Given the description of an element on the screen output the (x, y) to click on. 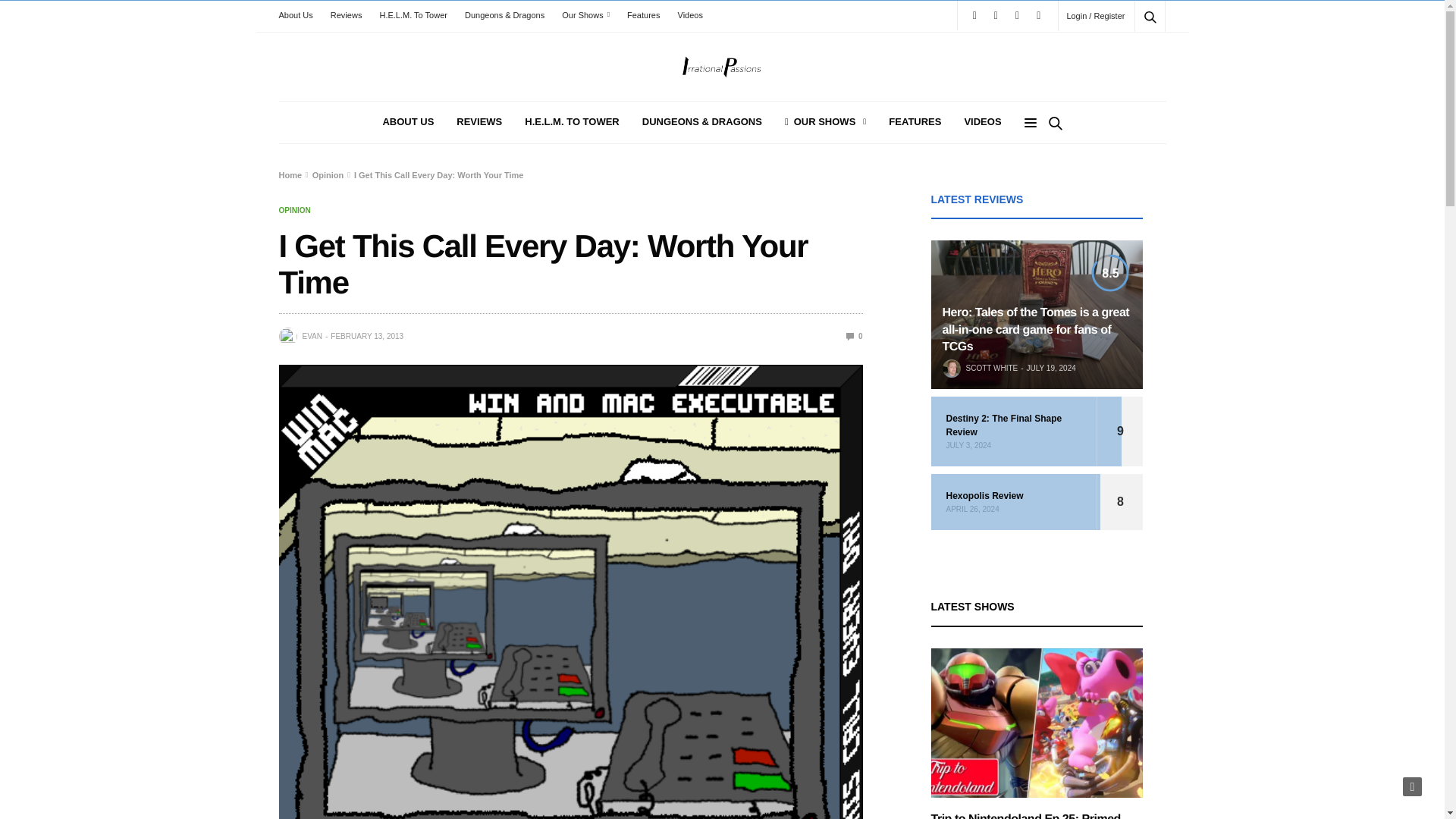
Search (1129, 53)
I Get This Call Every Day: Worth Your Time (853, 336)
Posts by Scott White (991, 368)
Our Shows (585, 15)
Trip to Nintendoland Ep.25: Primed and Ready (1026, 816)
Posts by Evan (311, 336)
H.E.L.M. TO TOWER (571, 122)
ABOUT US (407, 122)
Opinion (295, 210)
H.E.L.M. To Tower (412, 15)
Destiny 2: The Final Shape Review (1014, 424)
Features (643, 15)
OUR SHOWS (825, 122)
Trip to Nintendoland Ep.25: Primed and Ready (1036, 722)
VIDEOS (982, 122)
